Given the description of an element on the screen output the (x, y) to click on. 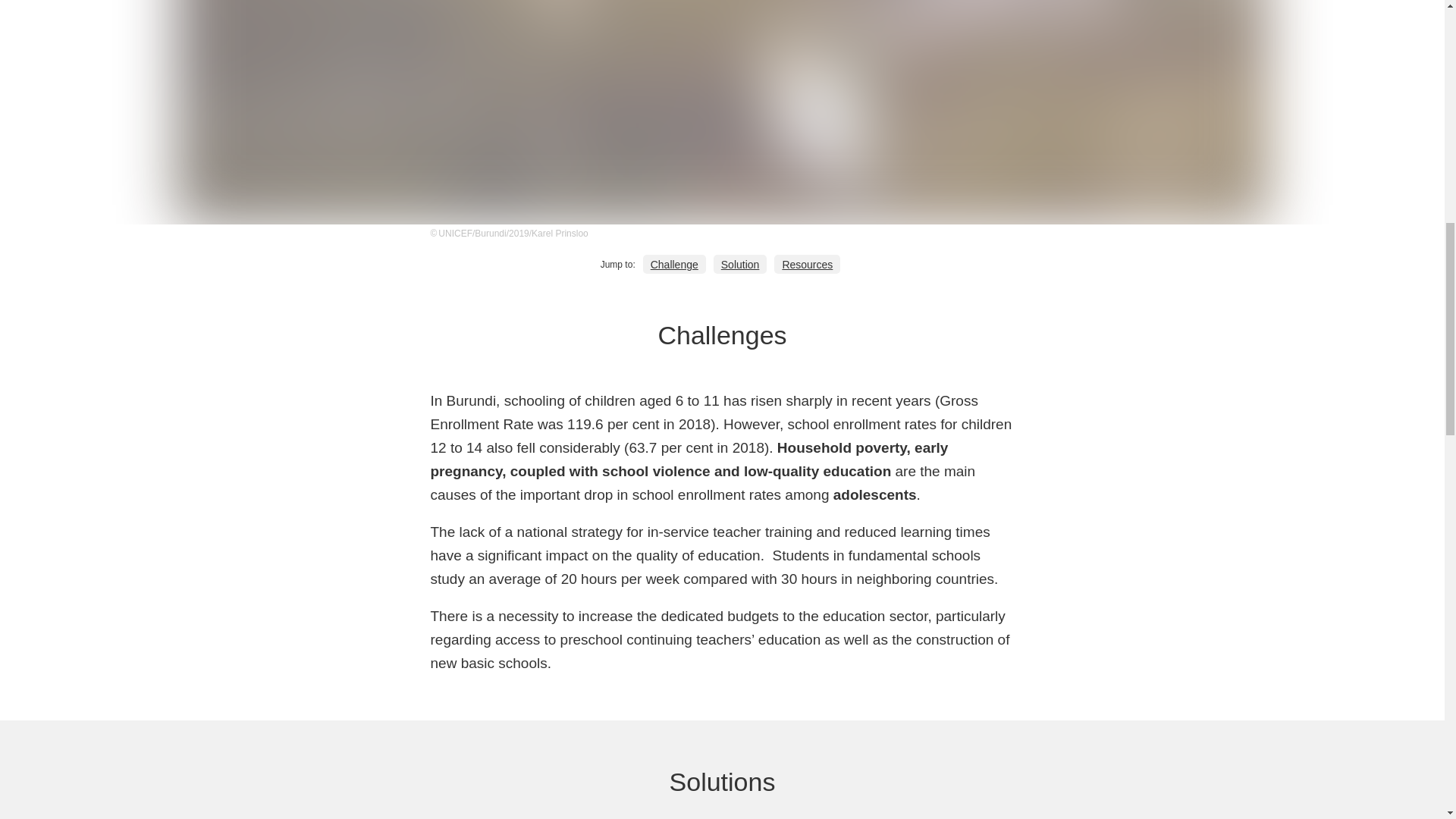
Resources (807, 263)
Solution (740, 263)
Challenge (674, 263)
